Given the description of an element on the screen output the (x, y) to click on. 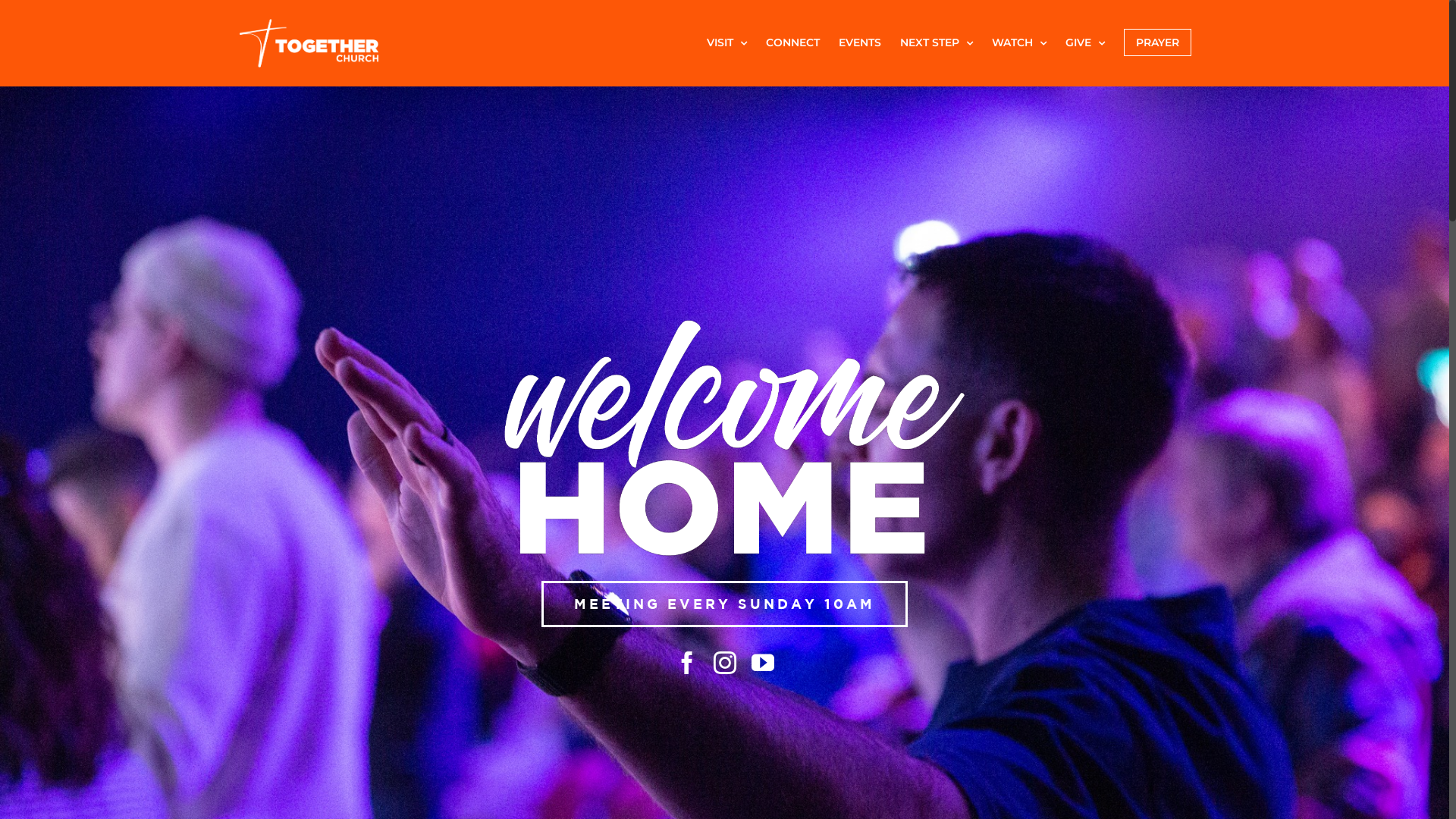
VISIT Element type: text (726, 41)
GIVE Element type: text (1084, 41)
ICW_WelcomeHome-2 Element type: hover (724, 437)
NEXT STEP Element type: text (935, 41)
WATCH Element type: text (1018, 41)
CONNECT Element type: text (792, 41)
EVENTS Element type: text (859, 41)
PRAYER Element type: text (1157, 41)
MEETING EVERY SUNDAY 10AM Element type: text (724, 603)
